Given the description of an element on the screen output the (x, y) to click on. 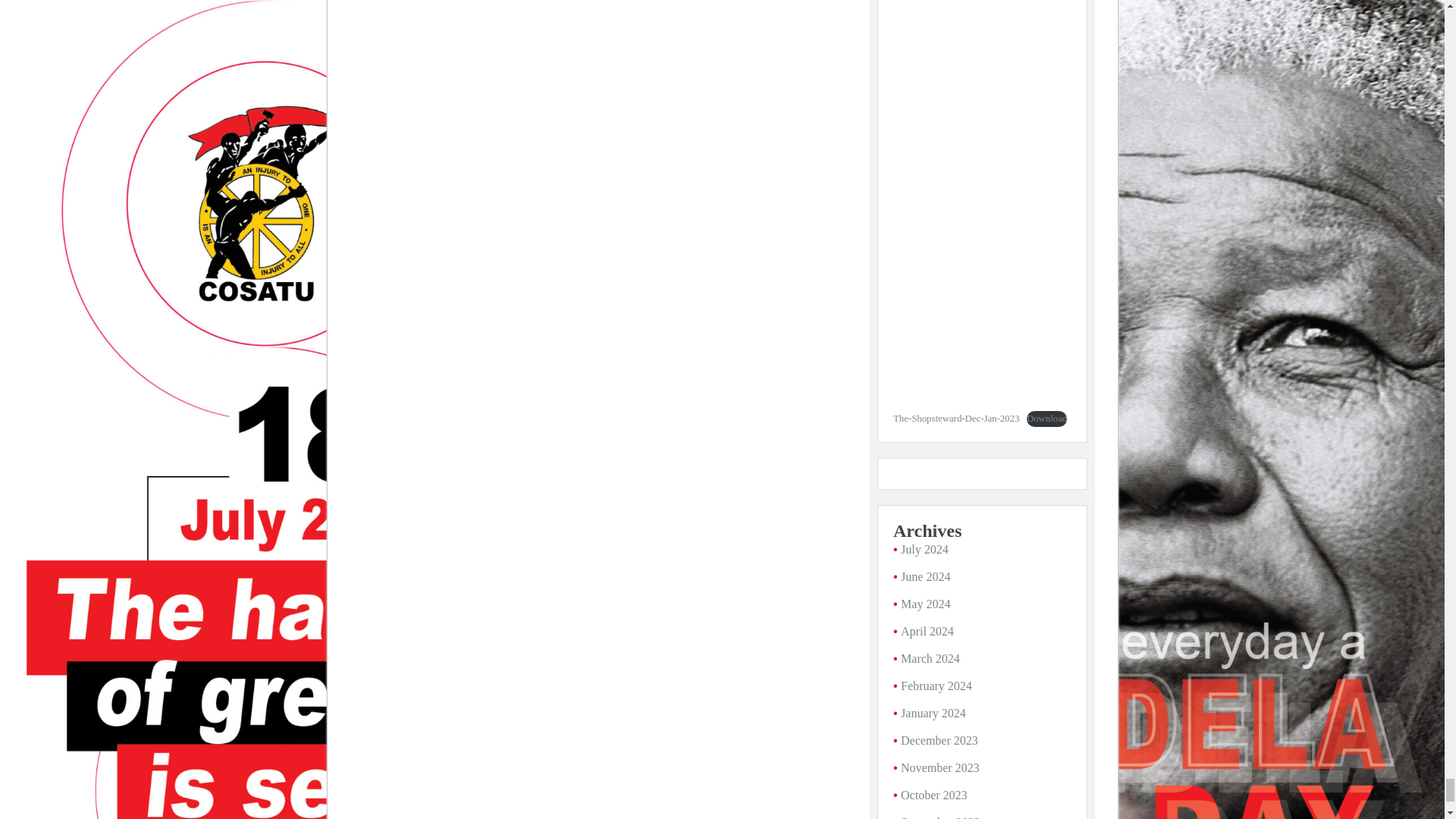
July 2024 (925, 549)
January 2024 (933, 712)
March 2024 (930, 658)
April 2024 (927, 631)
December 2023 (939, 739)
June 2024 (925, 576)
February 2024 (936, 685)
May 2024 (925, 603)
Download (1046, 418)
November 2023 (940, 767)
The-Shopsteward-Dec-Jan-2023 (956, 418)
September 2023 (940, 817)
October 2023 (934, 794)
